Given the description of an element on the screen output the (x, y) to click on. 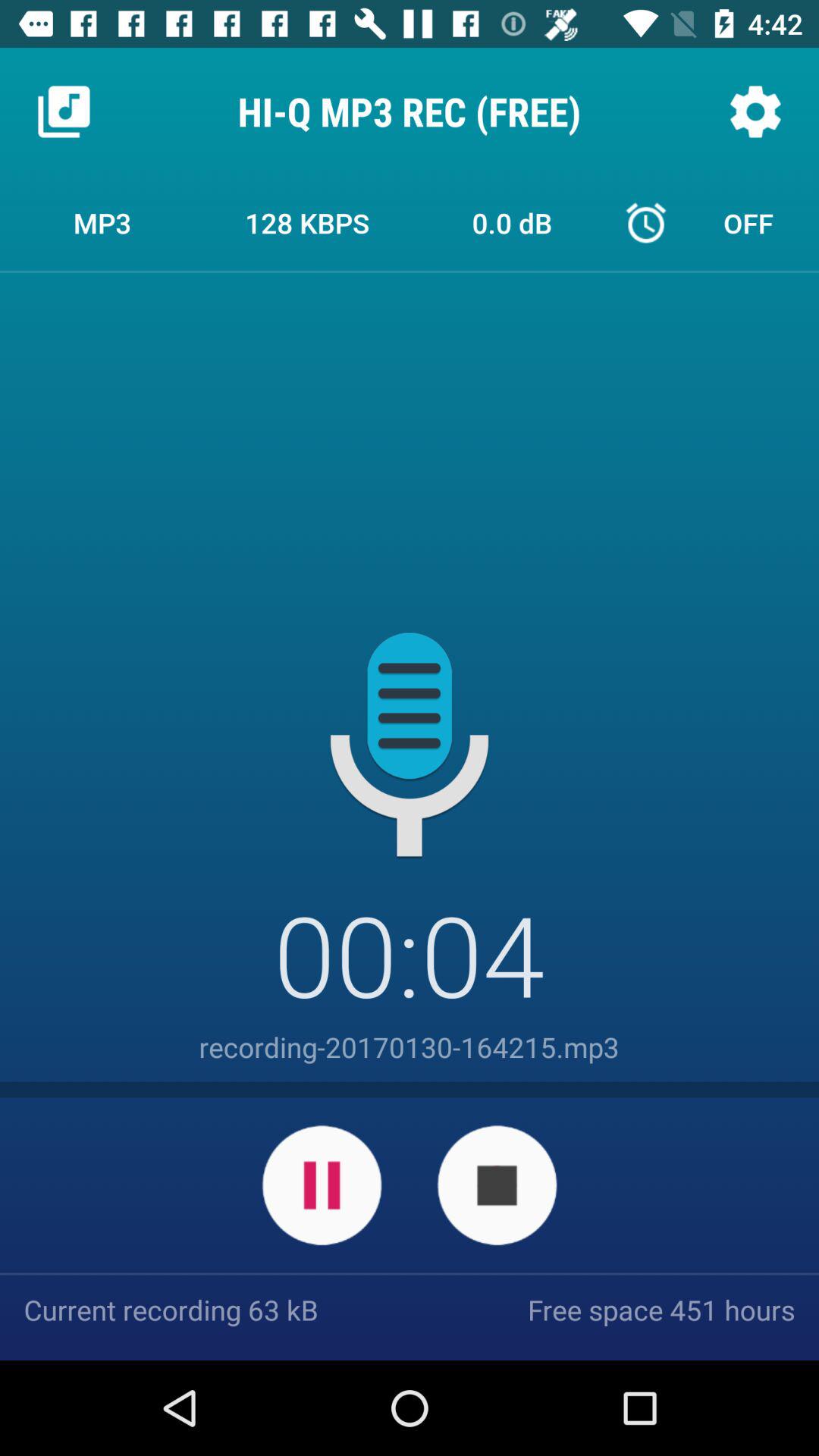
choose the item to the right of the 0.0 db (716, 222)
